Given the description of an element on the screen output the (x, y) to click on. 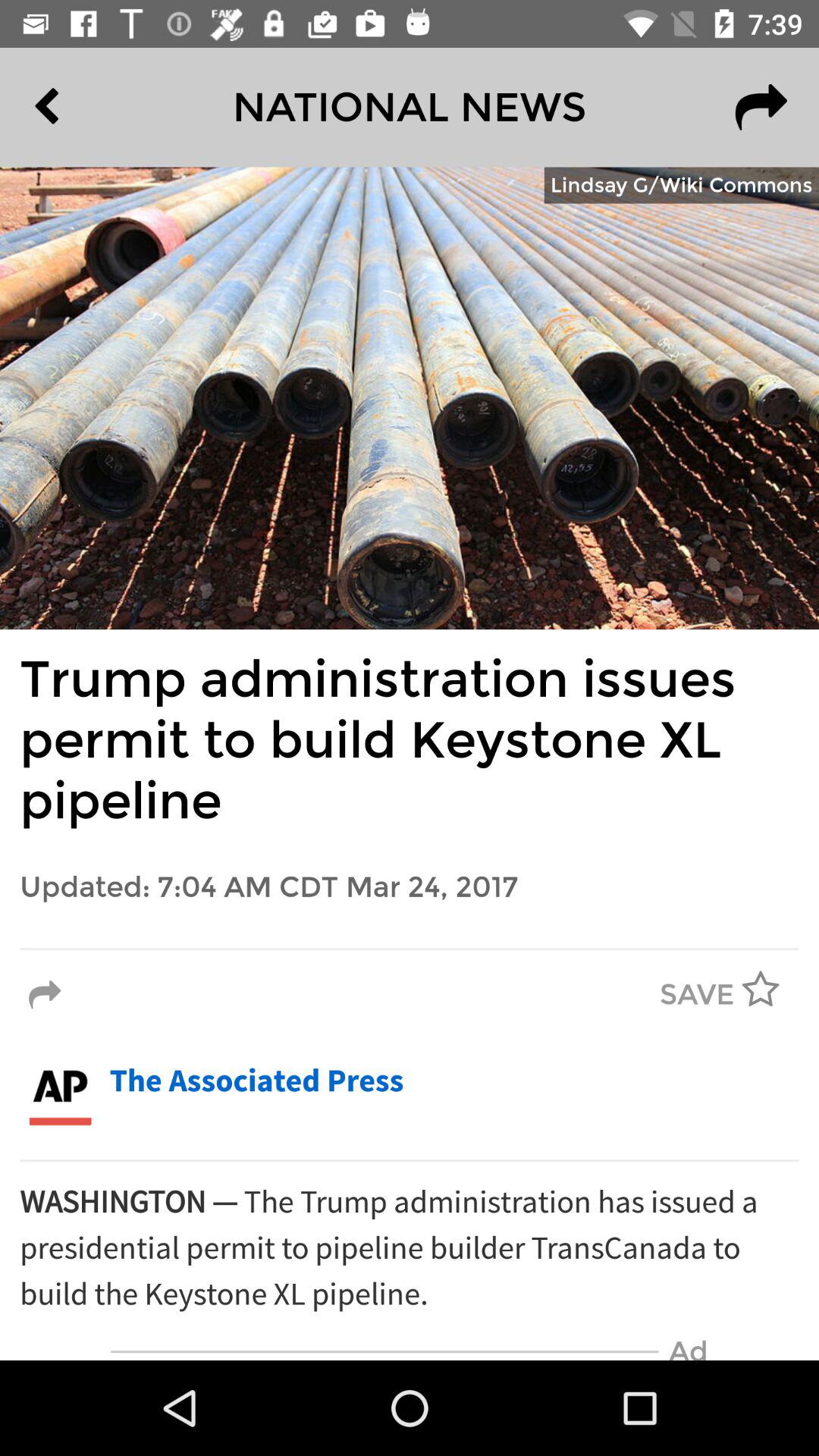
launch the icon to the left of the ad icon (384, 1351)
